Given the description of an element on the screen output the (x, y) to click on. 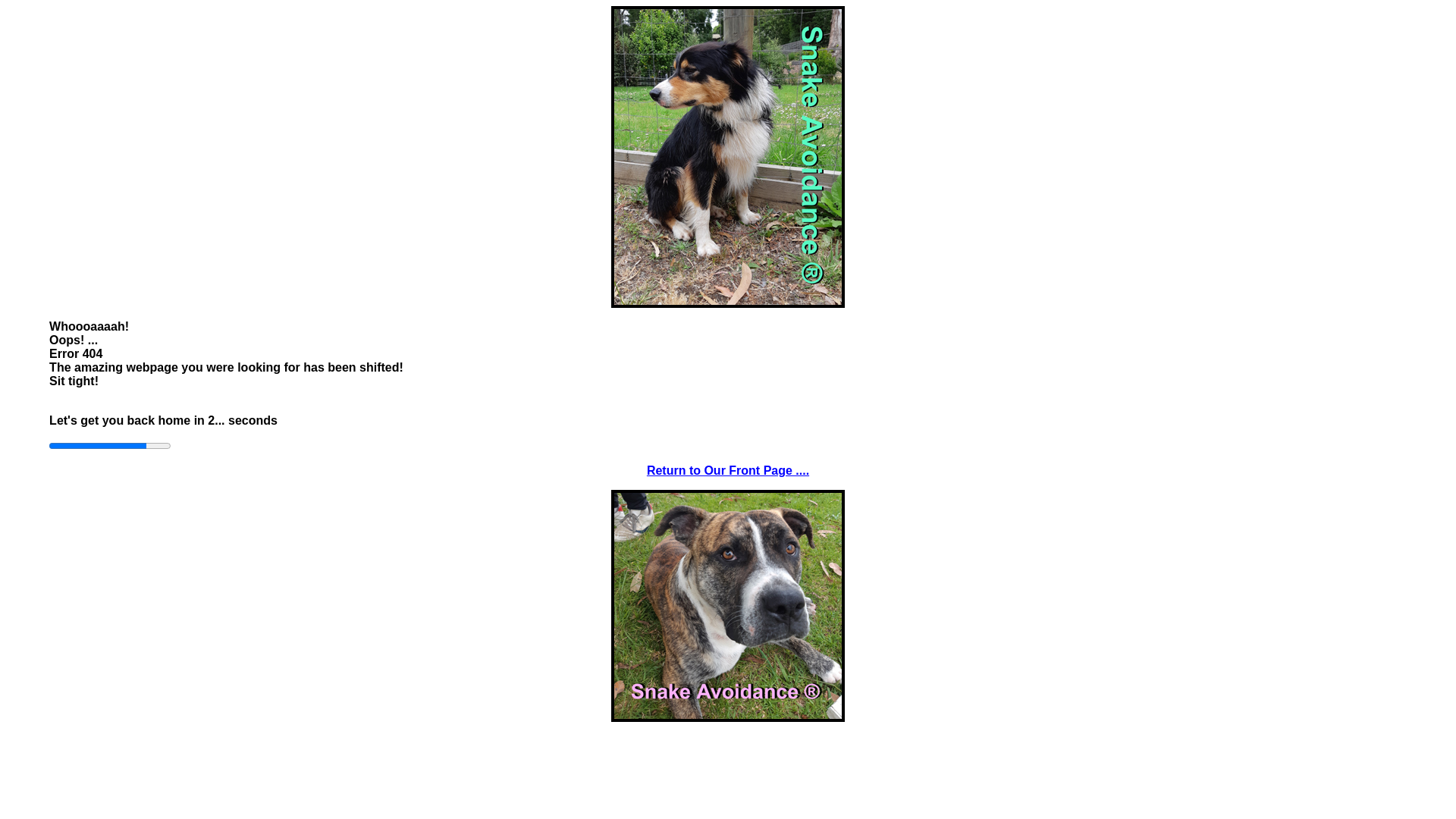
Return to Our Front Page .... Element type: text (727, 470)
Small Lizard Element type: hover (727, 605)
cute puppy Element type: hover (727, 156)
